Given the description of an element on the screen output the (x, y) to click on. 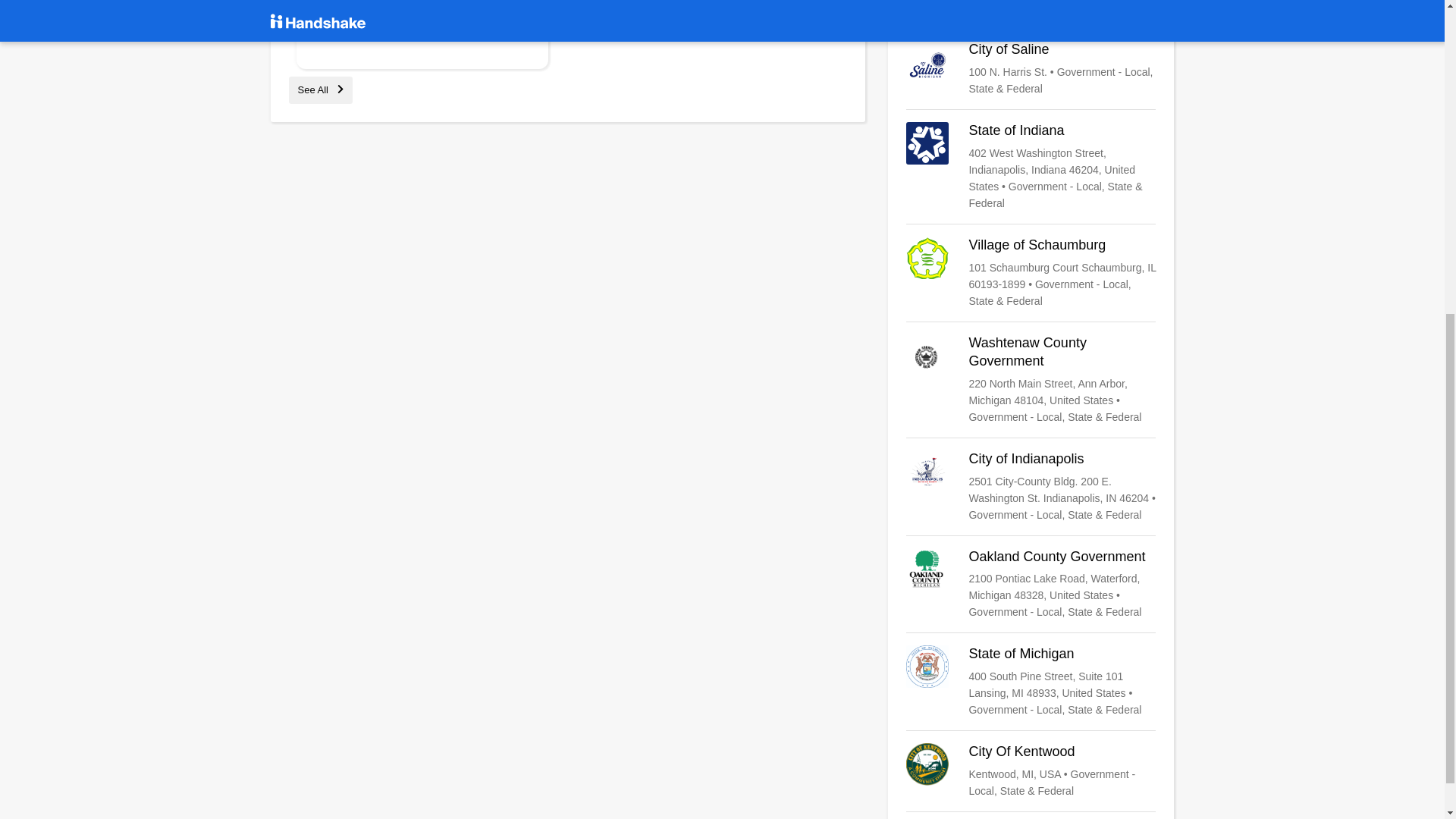
Oakland County Government (1030, 583)
City of Grand Rapids (1030, 7)
City of Saline (1030, 68)
City Of Kentwood (1030, 770)
State of Indiana (1030, 166)
City of Indianapolis (1030, 486)
State of Michigan (1030, 681)
See All (320, 89)
Washtenaw County Government (1030, 379)
Village of Schaumburg (1030, 272)
